Given the description of an element on the screen output the (x, y) to click on. 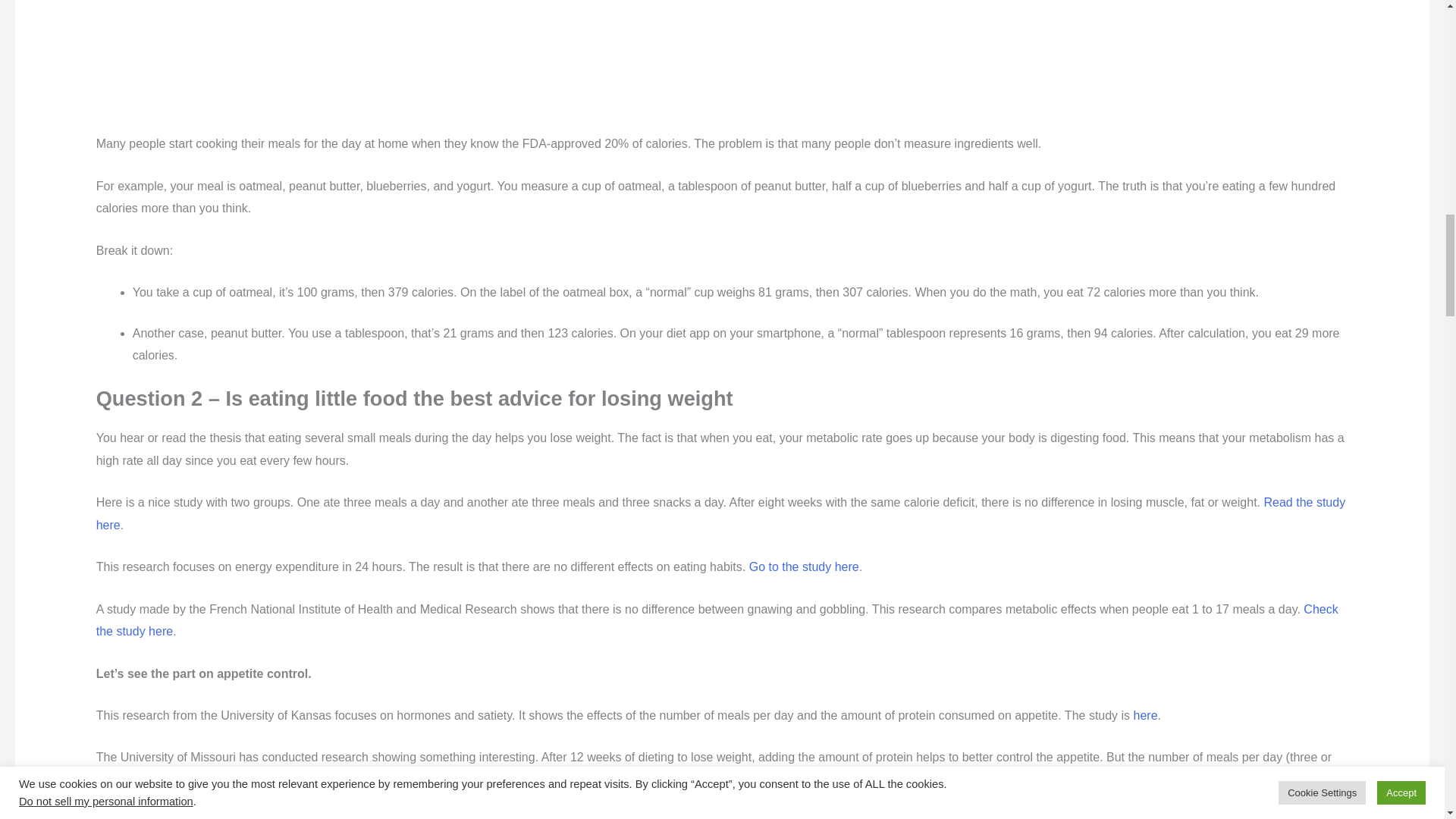
Go to the study here (804, 566)
Read the study here (720, 513)
Read the study here (284, 779)
Advertisement (470, 66)
Check the study here (717, 620)
Go to the study (1294, 816)
here (1145, 715)
